Given the description of an element on the screen output the (x, y) to click on. 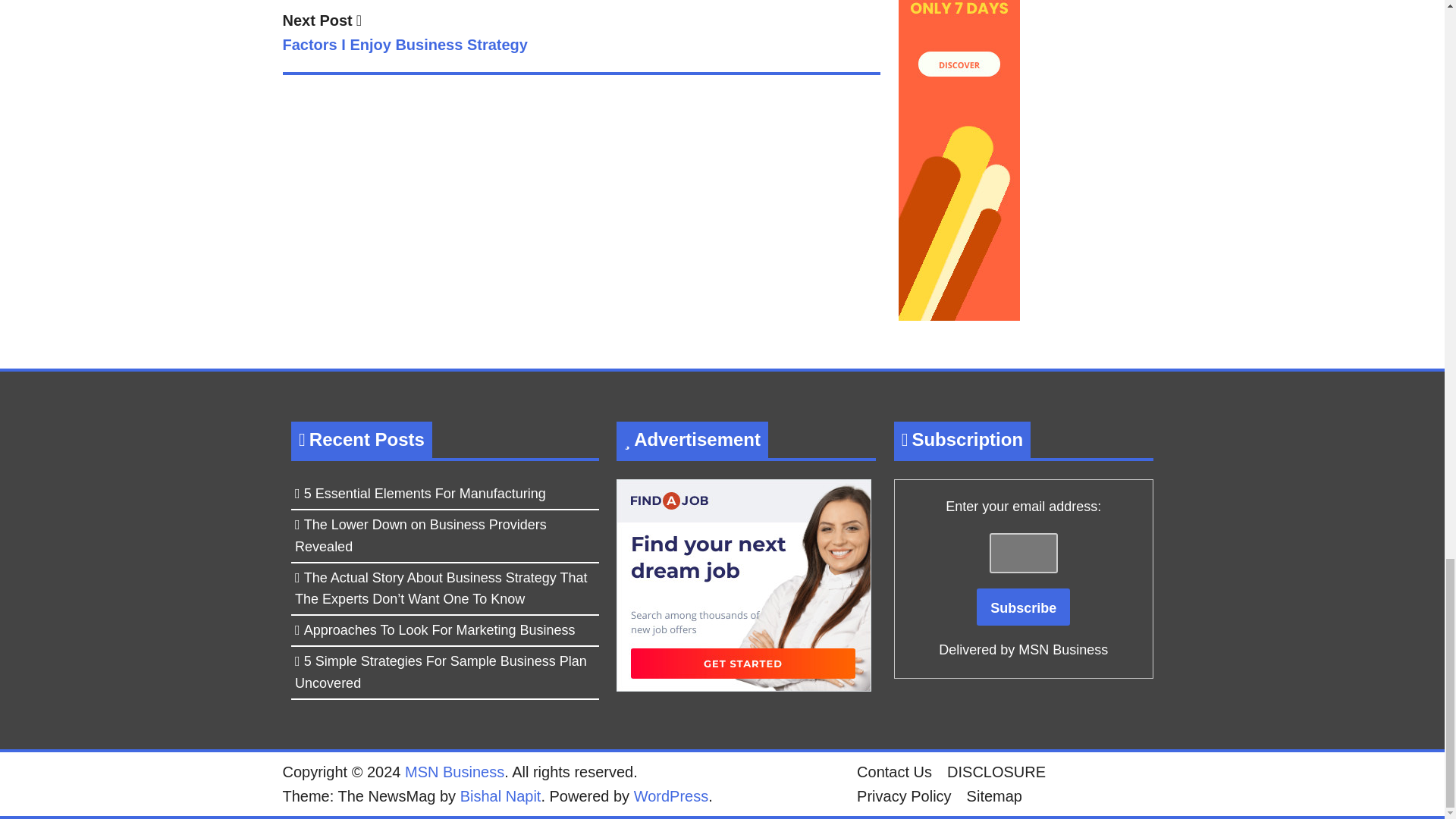
MSN Business (453, 771)
WordPress (671, 795)
Bishal Napit (581, 34)
Subscribe (500, 795)
